Given the description of an element on the screen output the (x, y) to click on. 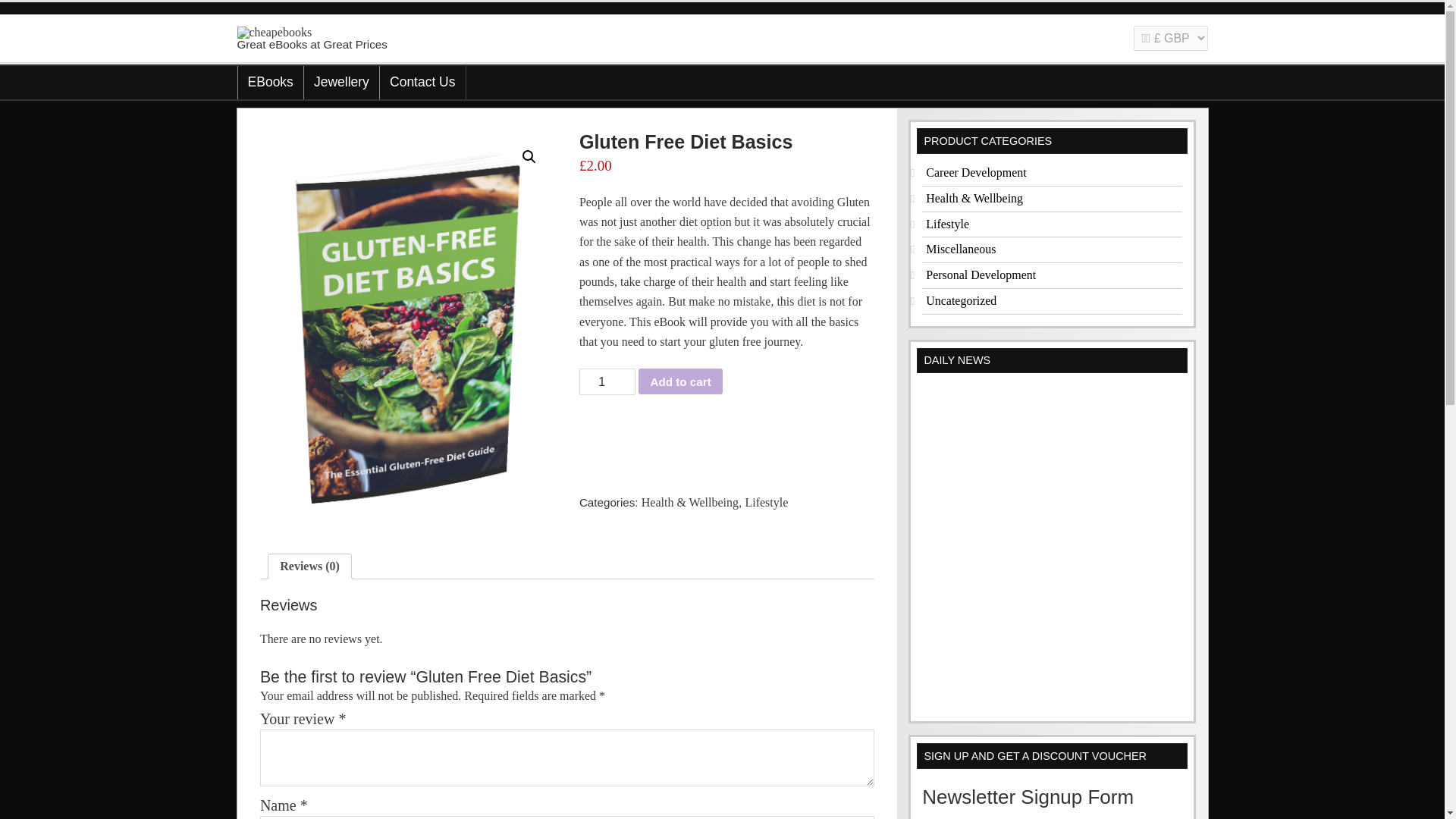
PayPal (727, 434)
Add to cart (680, 380)
Lifestyle (765, 502)
Personal Development (980, 274)
Career Development (976, 172)
Uncategorized (960, 300)
Miscellaneous (960, 248)
1 (606, 380)
cheapebooks (273, 31)
EBooks (270, 82)
